Given the description of an element on the screen output the (x, y) to click on. 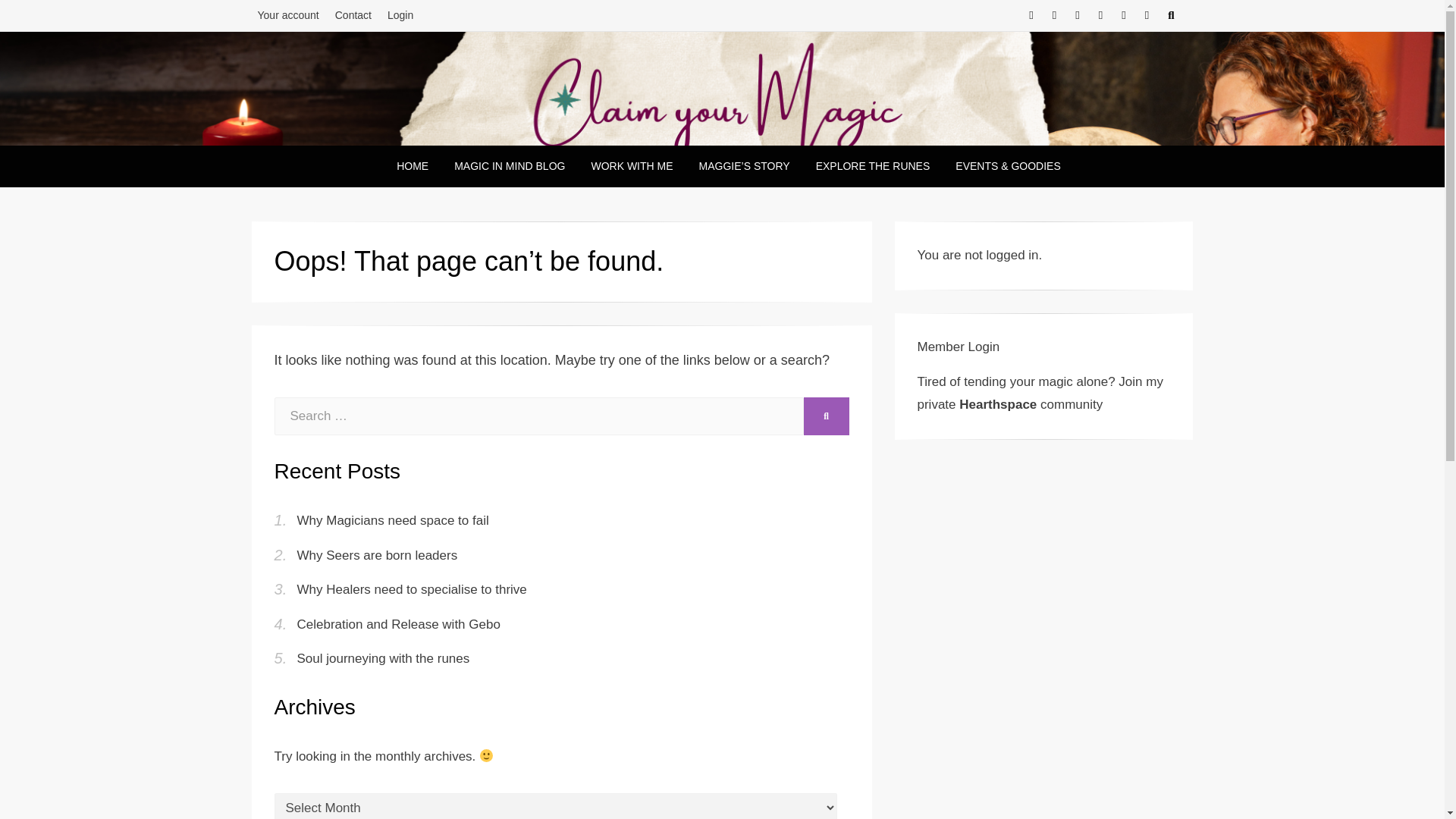
Login (400, 15)
Why Healers need to specialise to thrive (412, 589)
MAGIC IN MIND BLOG (509, 166)
Why Magicians need space to fail (393, 520)
Why Seers are born leaders (377, 554)
Your account (287, 15)
HOME (412, 166)
Contact (353, 15)
Celebration and Release with Gebo (398, 624)
Search for: (539, 415)
EXPLORE THE RUNES (873, 166)
Soul journeying with the runes (383, 658)
WORK WITH ME (631, 166)
